Given the description of an element on the screen output the (x, y) to click on. 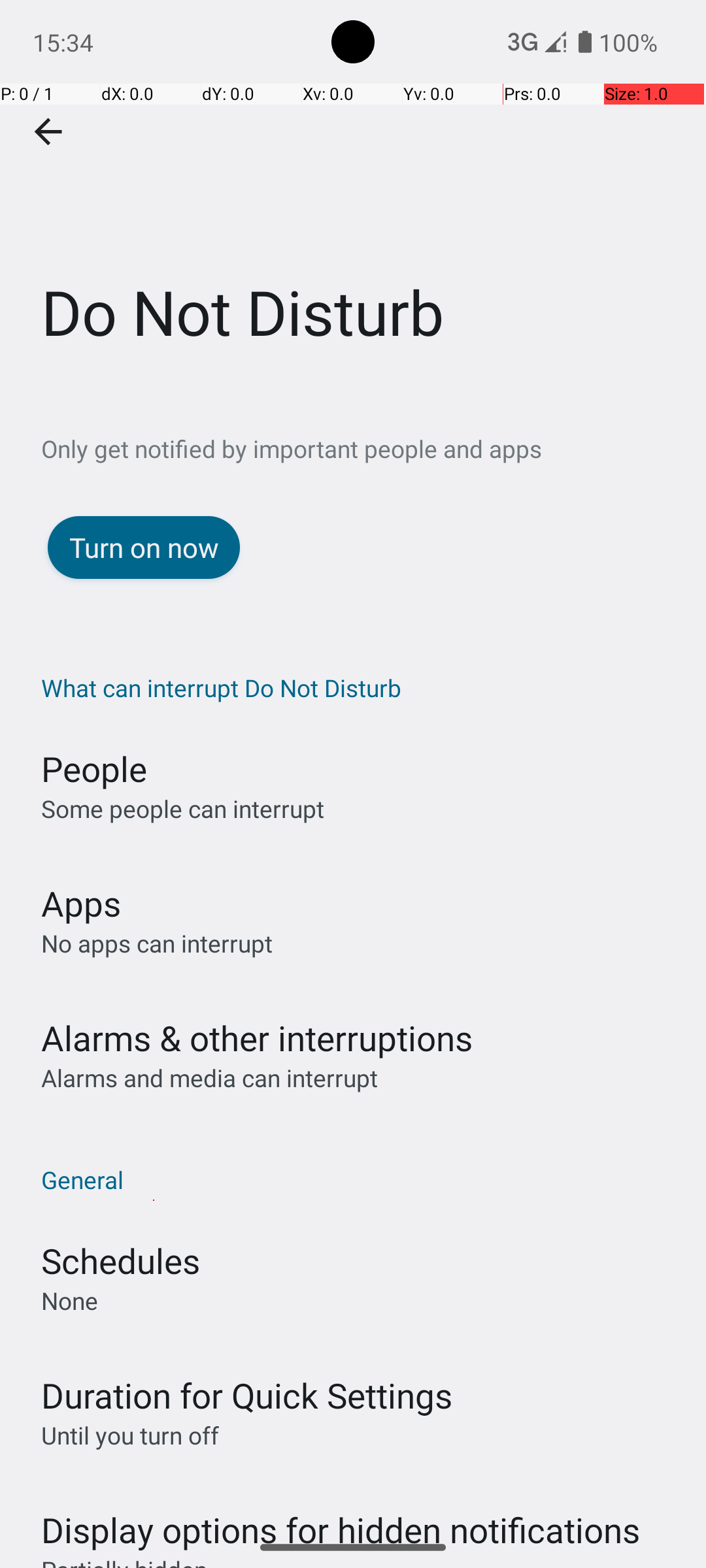
Do Not Disturb Element type: android.widget.FrameLayout (353, 195)
Only get notified by important people and apps Element type: android.widget.TextView (373, 448)
Turn on now Element type: android.widget.Button (143, 547)
What can interrupt Do Not Disturb Element type: android.widget.TextView (359, 687)
People Element type: android.widget.TextView (94, 768)
Some people can interrupt Element type: android.widget.TextView (182, 808)
Apps Element type: android.widget.TextView (80, 903)
No apps can interrupt Element type: android.widget.TextView (156, 942)
Alarms & other interruptions Element type: android.widget.TextView (256, 1037)
Alarms and media can interrupt Element type: android.widget.TextView (209, 1077)
Schedules Element type: android.widget.TextView (120, 1260)
Duration for Quick Settings Element type: android.widget.TextView (246, 1395)
Until you turn off Element type: android.widget.TextView (129, 1434)
Display options for hidden notifications Element type: android.widget.TextView (340, 1516)
